Given the description of an element on the screen output the (x, y) to click on. 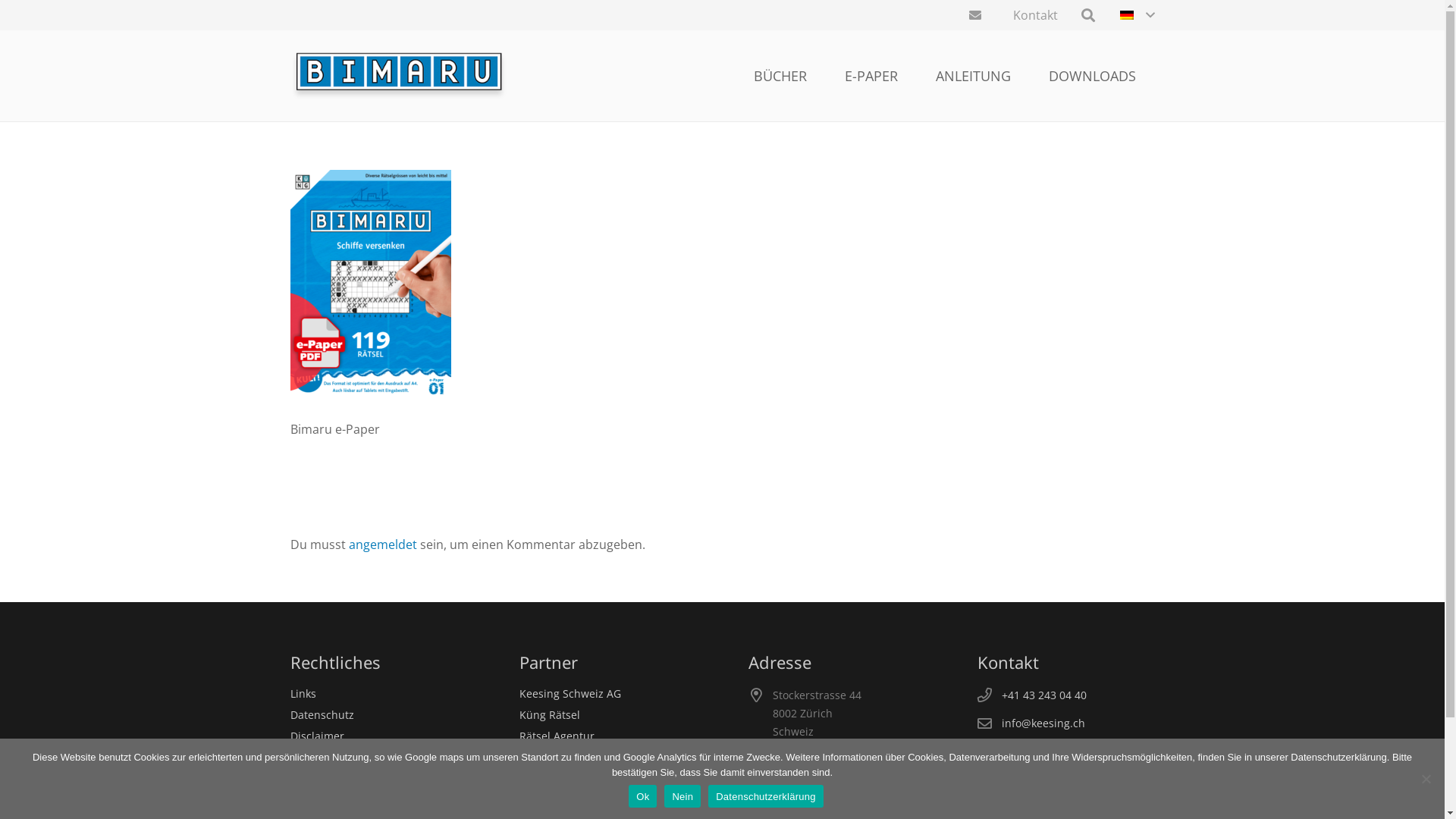
AGB Element type: text (299, 778)
Links Element type: text (302, 693)
Cartoon Pool Element type: text (550, 800)
Nein Element type: text (682, 795)
Impressum Element type: text (318, 756)
ANLEITUNG Element type: text (972, 75)
angemeldet Element type: text (382, 544)
Ok Element type: text (642, 795)
Keesing Schweiz AG Element type: text (569, 693)
Datenschutz Element type: text (321, 714)
DOWNLOADS Element type: text (1091, 75)
Disclaimer Element type: text (316, 735)
+41 43 243 04 40 Element type: text (1043, 694)
Kontakt Element type: text (1035, 15)
E-PAPER Element type: text (870, 75)
info@keesing.ch Element type: text (1042, 722)
